Given the description of an element on the screen output the (x, y) to click on. 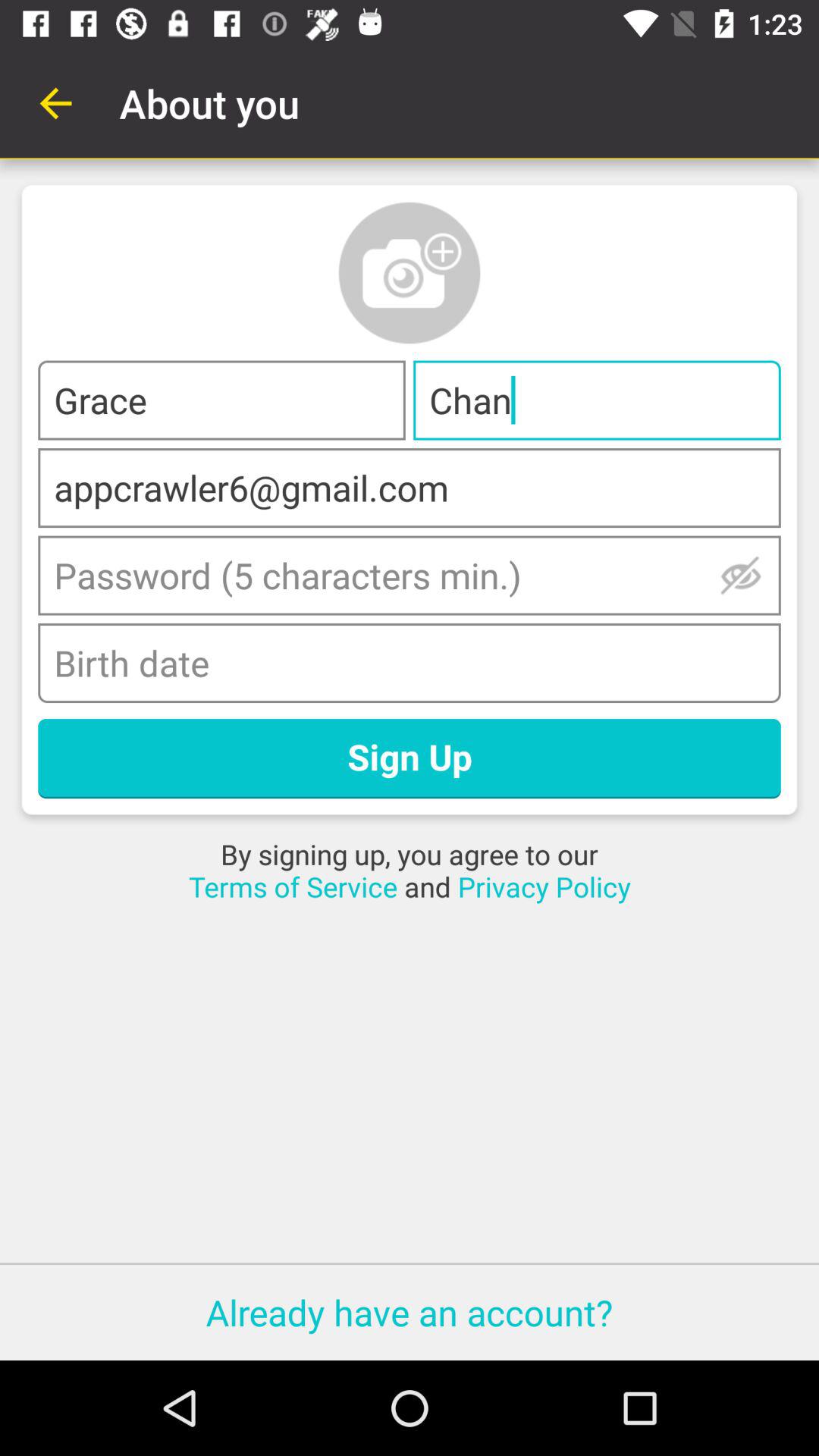
add profile picture (409, 272)
